Given the description of an element on the screen output the (x, y) to click on. 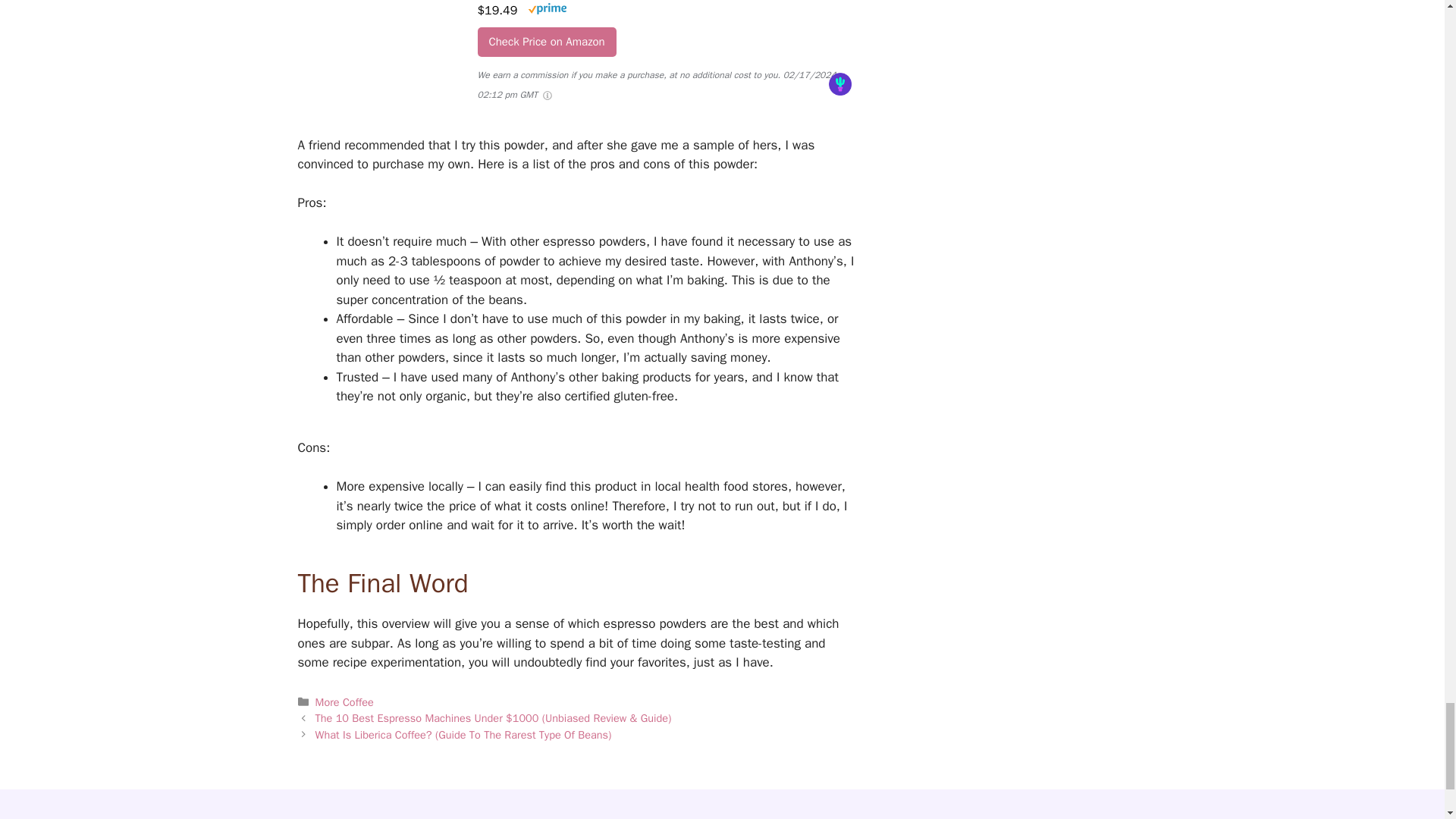
Check Price on Amazon (546, 41)
More Coffee (344, 702)
